Given the description of an element on the screen output the (x, y) to click on. 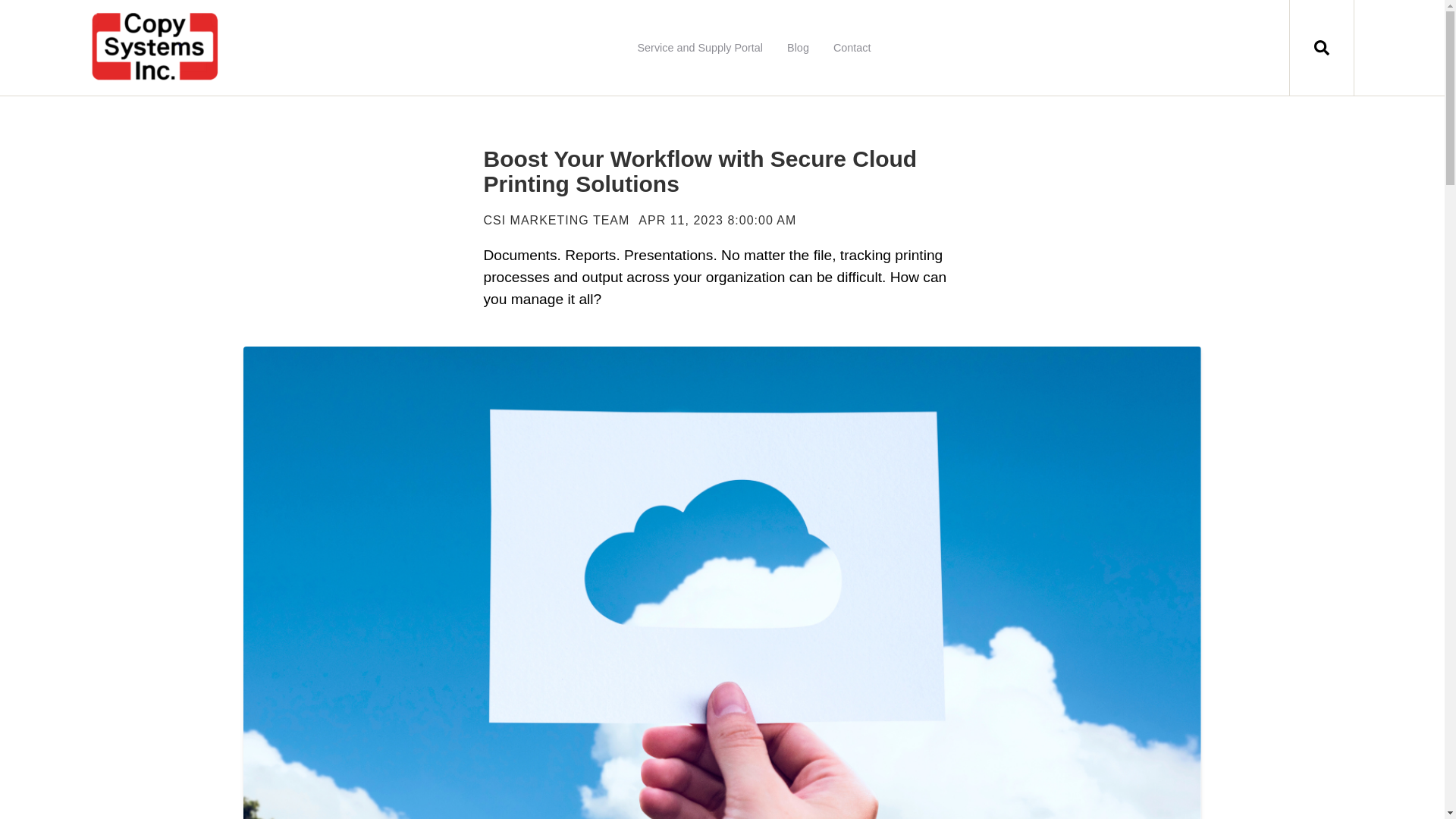
CSI MARKETING TEAM (556, 220)
Service and Supply Portal (699, 47)
